Given the description of an element on the screen output the (x, y) to click on. 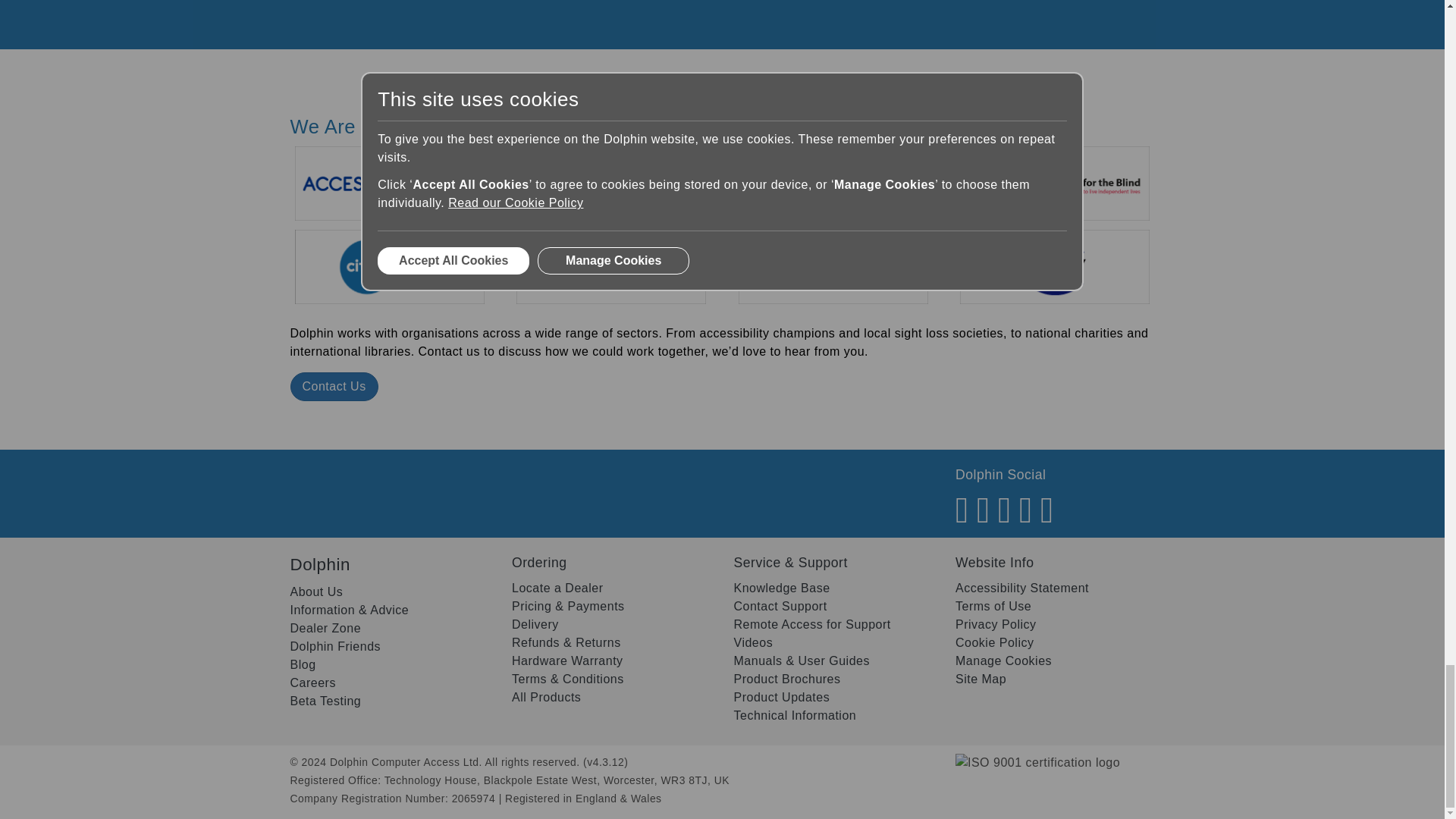
LinkedIn (1025, 517)
YouTube (983, 517)
Instagram (1047, 517)
X (1004, 517)
Facebook (962, 517)
